Given the description of an element on the screen output the (x, y) to click on. 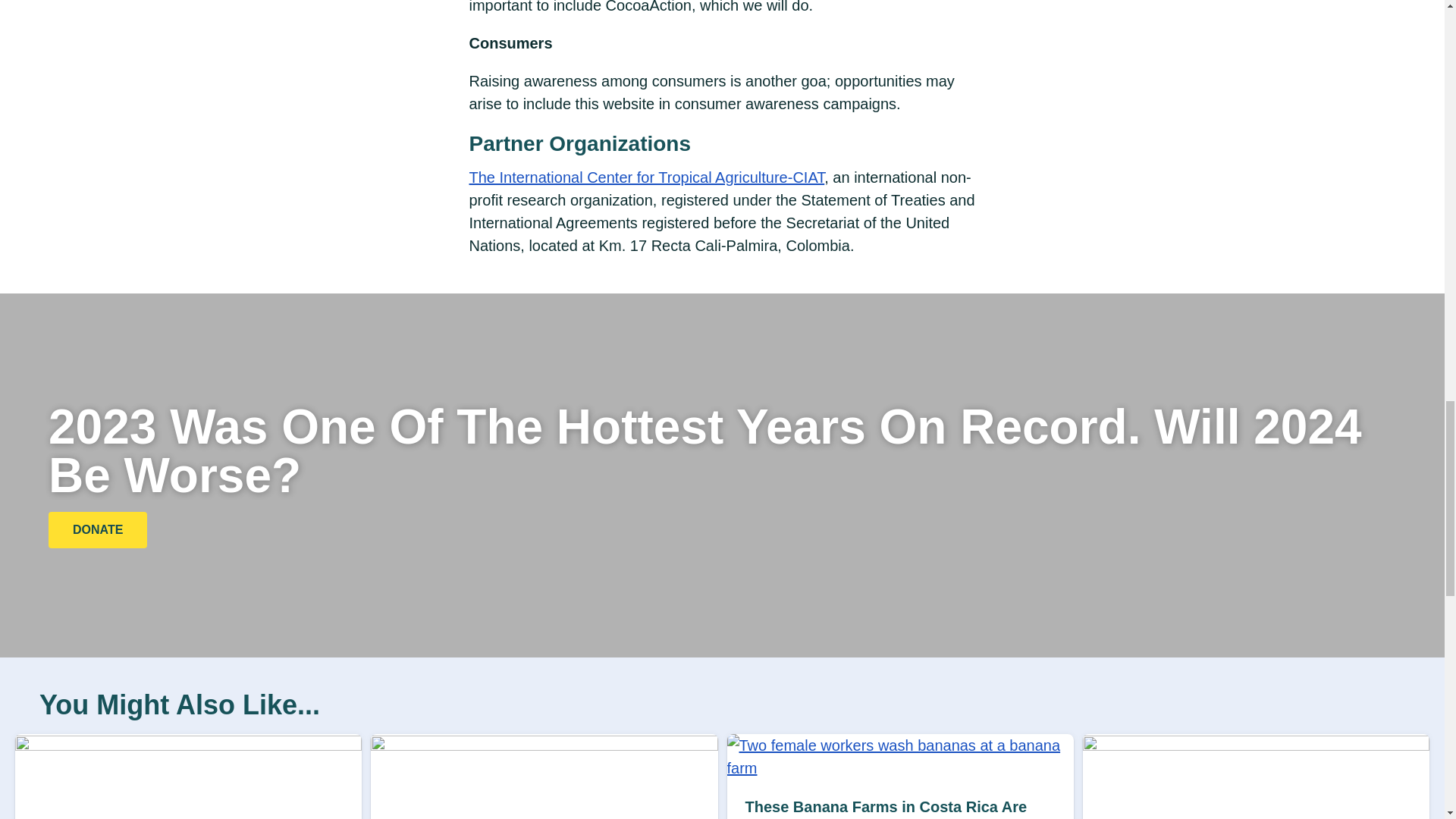
Section image (187, 745)
Section image (1256, 745)
Section image (899, 768)
Section image (544, 745)
